Given the description of an element on the screen output the (x, y) to click on. 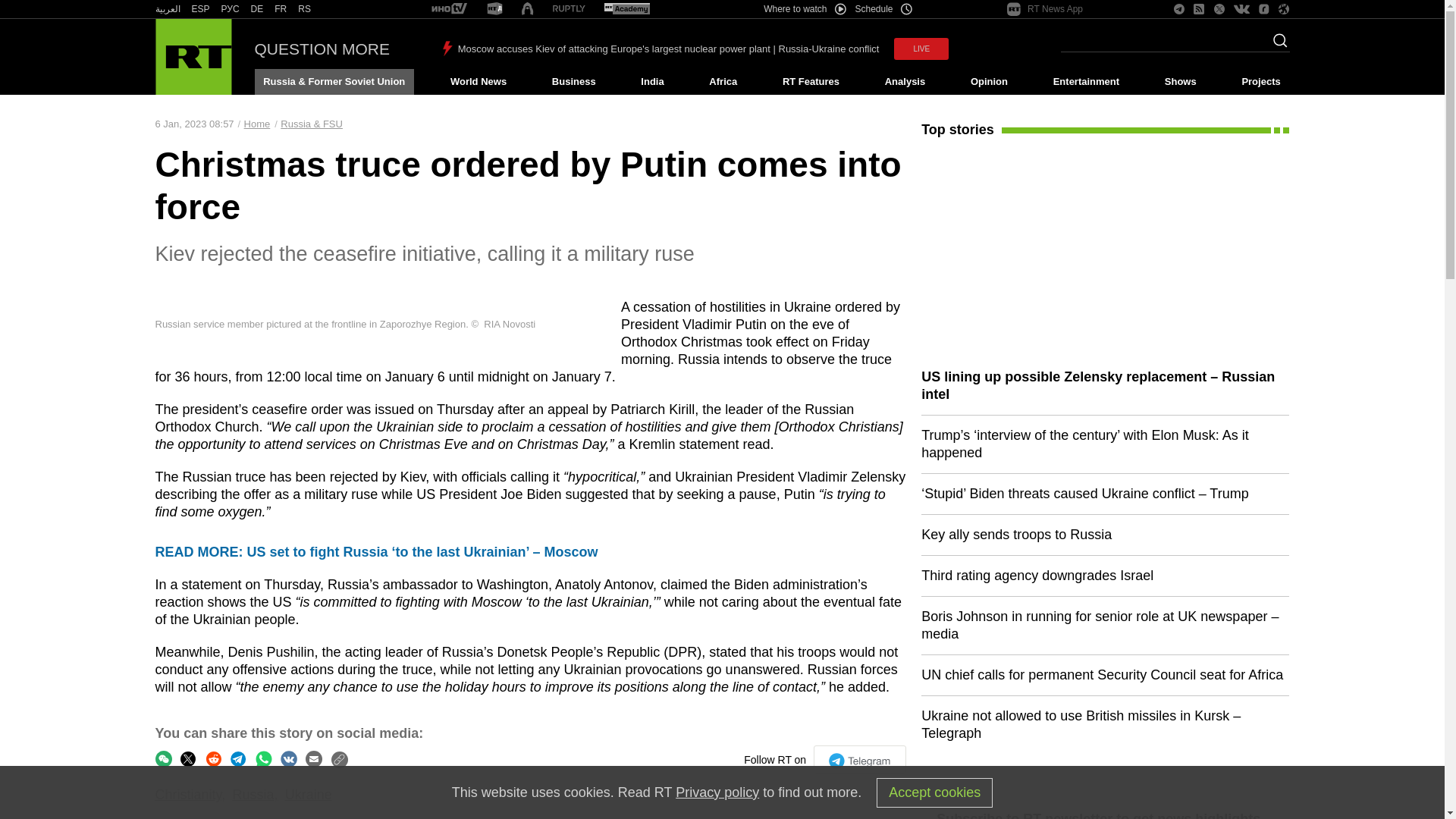
Business (573, 81)
RT  (230, 9)
FR (280, 9)
RT News App (1045, 9)
Search (1276, 44)
RT  (304, 9)
Projects (1261, 81)
RT  (280, 9)
ESP (199, 9)
World News (478, 81)
